Given the description of an element on the screen output the (x, y) to click on. 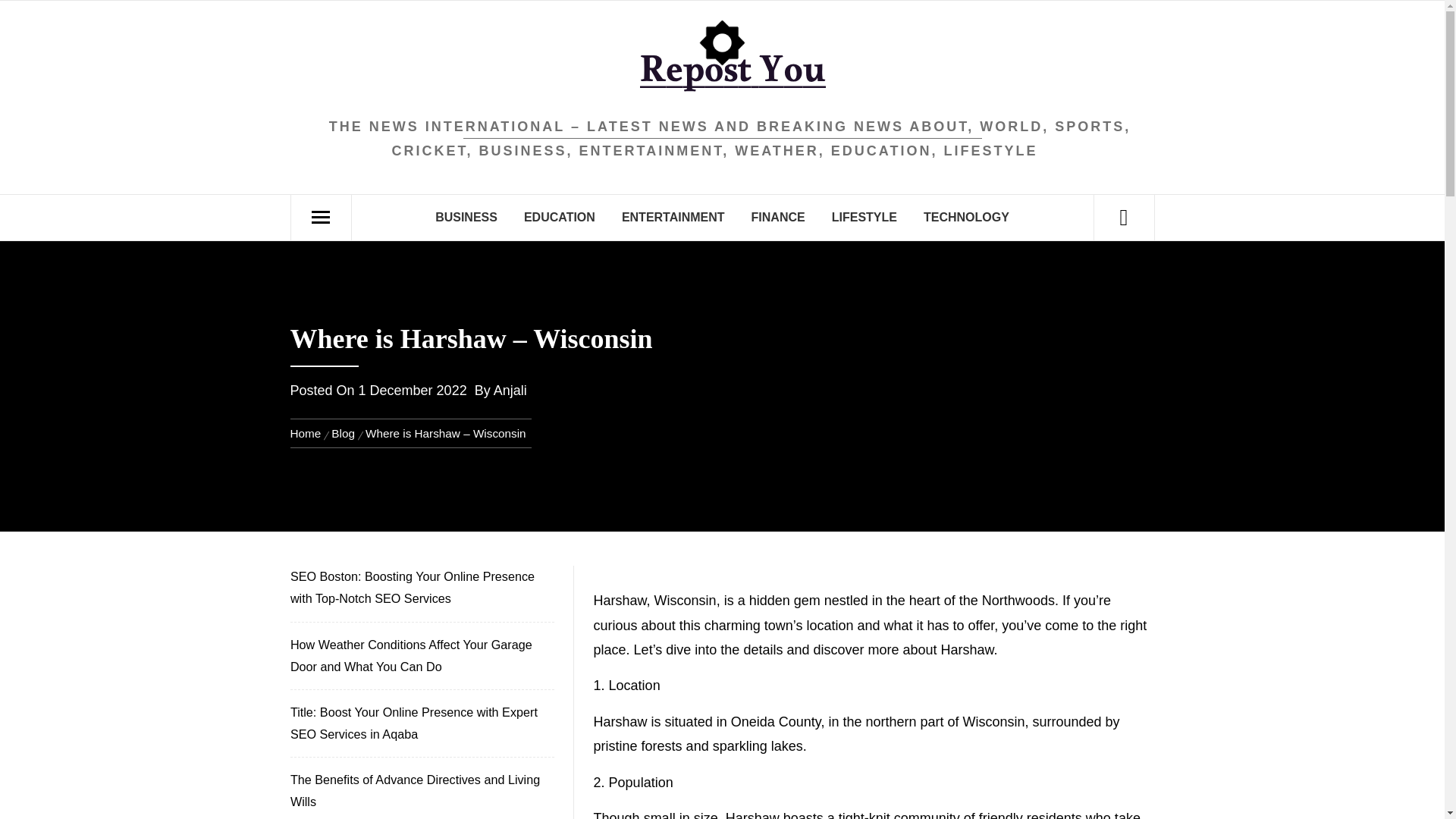
1 December 2022 (412, 390)
ENTERTAINMENT (673, 217)
EDUCATION (559, 217)
The Benefits of Advance Directives and Living Wills (420, 791)
BUSINESS (465, 217)
Blog (342, 432)
LIFESTYLE (864, 217)
Home (307, 432)
Anjali (510, 390)
FINANCE (777, 217)
TECHNOLOGY (966, 217)
REPOST YOU (722, 156)
